Given the description of an element on the screen output the (x, y) to click on. 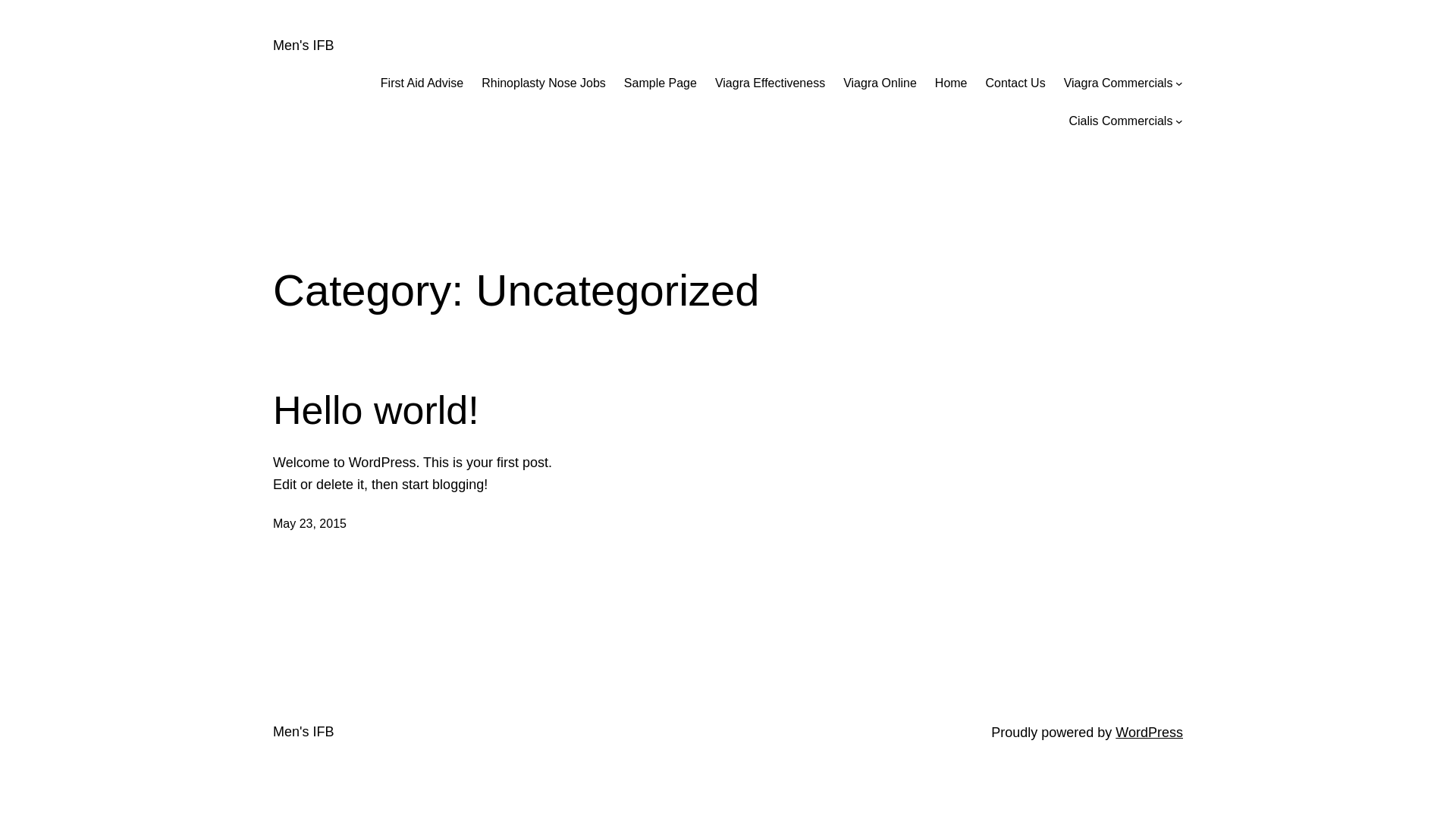
Rhinoplasty Nose Jobs Element type: text (543, 83)
Viagra Online Element type: text (879, 83)
Hello world! Element type: text (376, 409)
Sample Page Element type: text (660, 83)
Home Element type: text (951, 83)
Men's IFB Element type: text (303, 731)
Viagra Commercials Element type: text (1118, 83)
Viagra Effectiveness Element type: text (770, 83)
May 23, 2015 Element type: text (309, 523)
First Aid Advise Element type: text (421, 83)
Cialis Commercials Element type: text (1121, 121)
Contact Us Element type: text (1015, 83)
WordPress Element type: text (1149, 732)
Men's IFB Element type: text (303, 45)
